Given the description of an element on the screen output the (x, y) to click on. 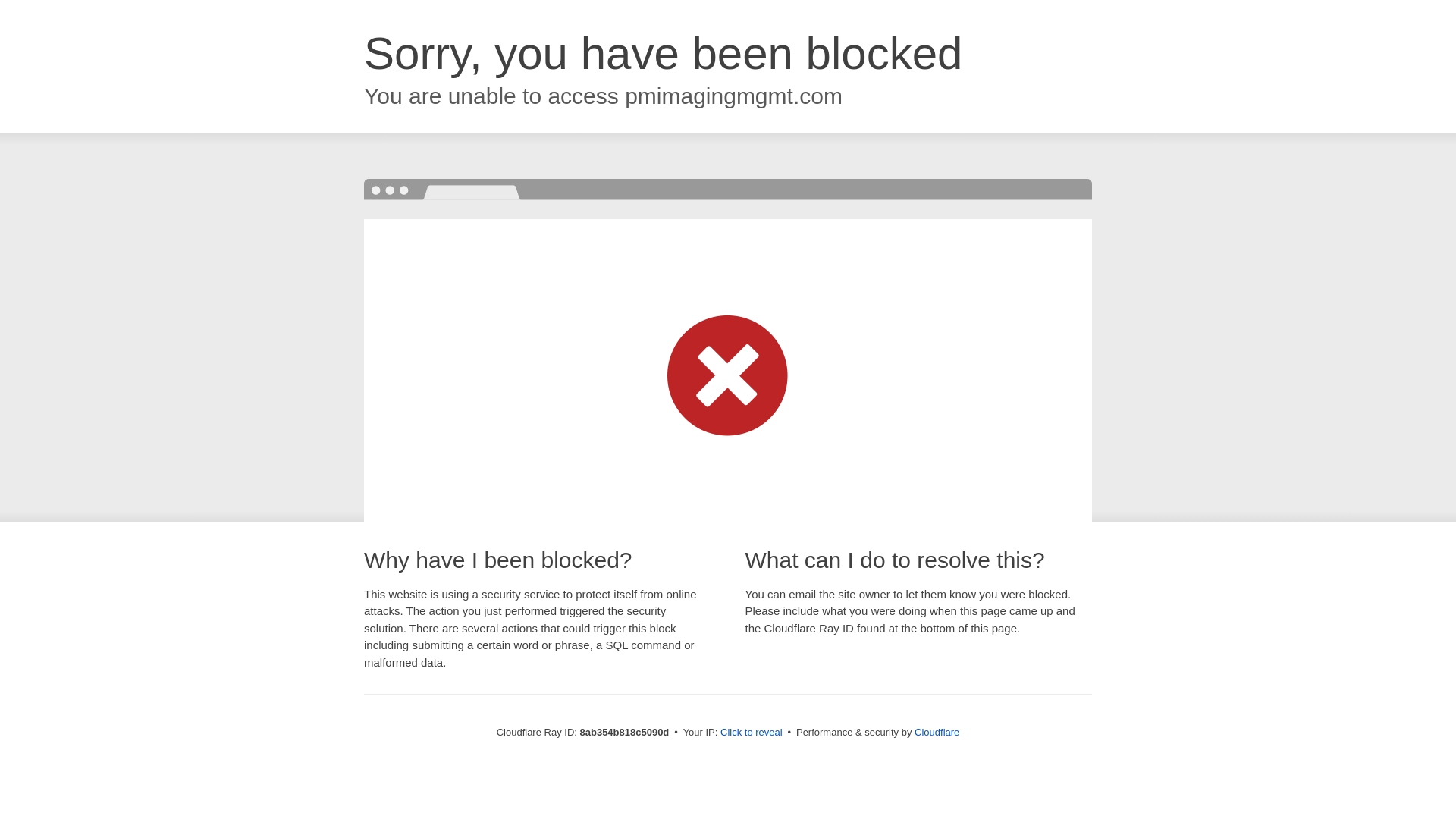
Cloudflare (936, 731)
Click to reveal (751, 732)
